Given the description of an element on the screen output the (x, y) to click on. 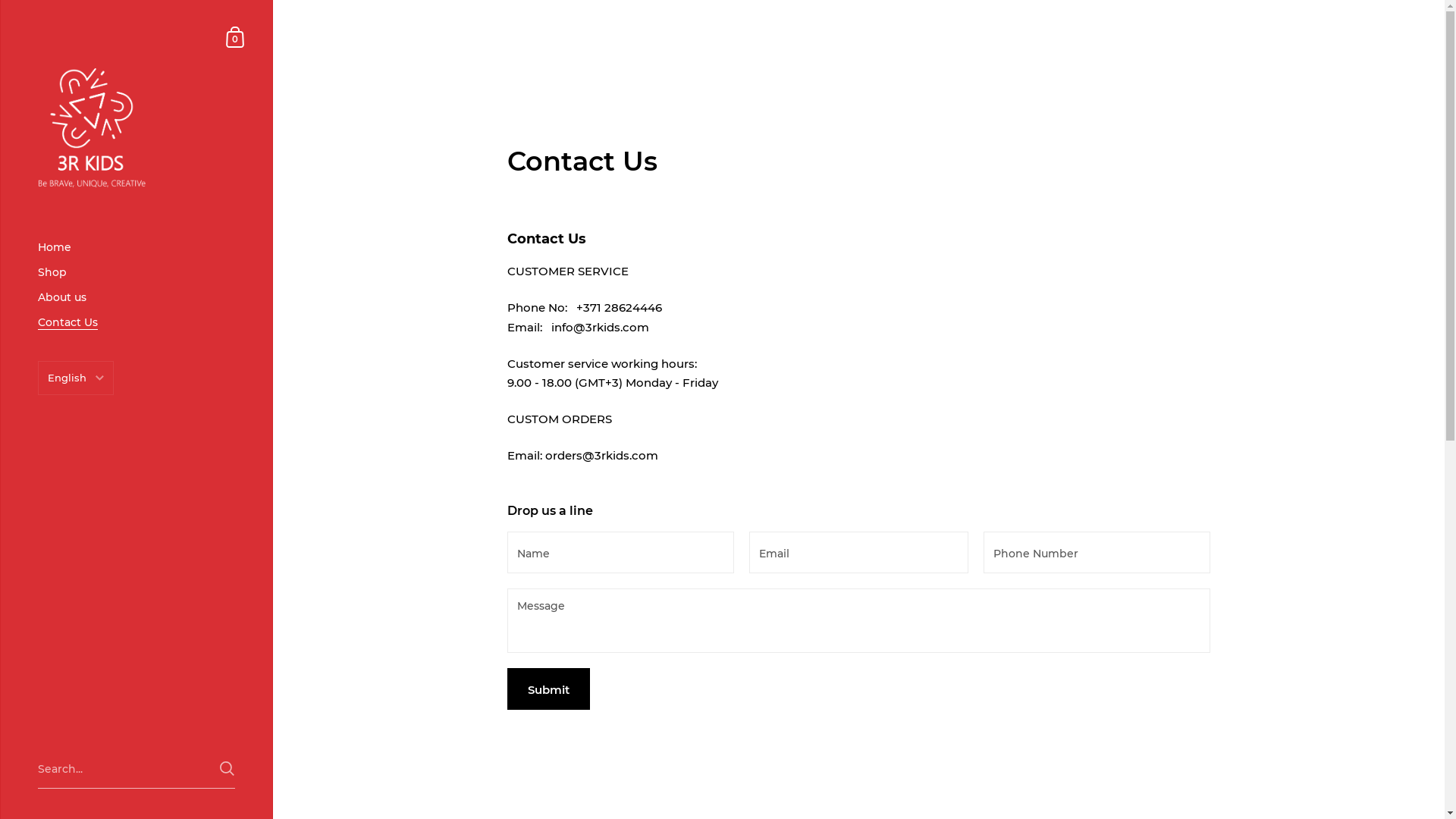
Shop Element type: text (136, 272)
About us Element type: text (136, 297)
Submit Element type: text (548, 688)
Home Element type: text (136, 247)
Contact Us Element type: text (136, 322)
0 Element type: text (235, 36)
lv Element type: text (75, 436)
English Element type: text (75, 408)
